Given the description of an element on the screen output the (x, y) to click on. 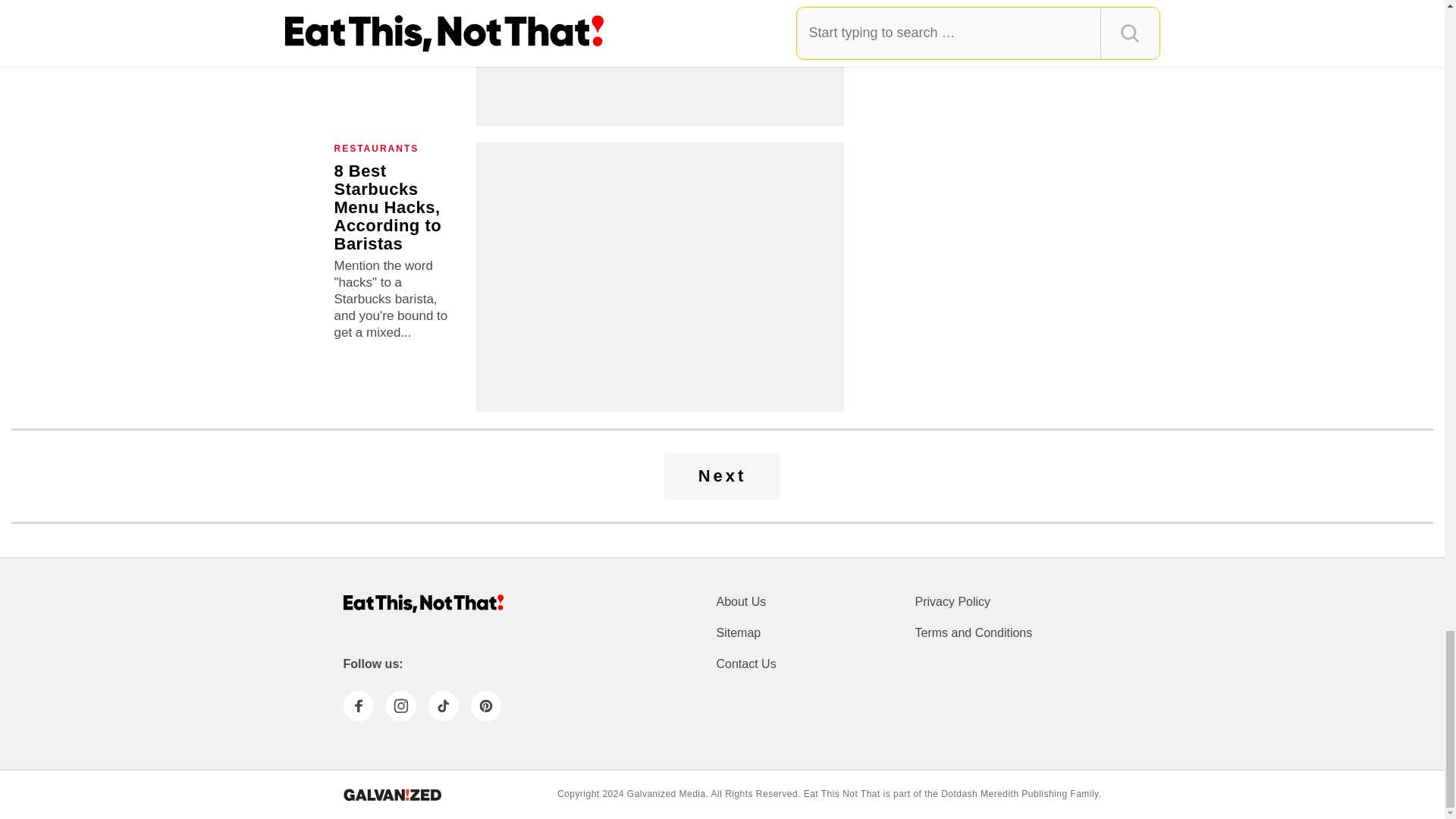
Homepage of Eat This Not That (422, 603)
Galvanized Media Logo (391, 794)
Facebook (357, 706)
TikTok (443, 706)
Instagram (399, 706)
Pinterest (485, 706)
